Given the description of an element on the screen output the (x, y) to click on. 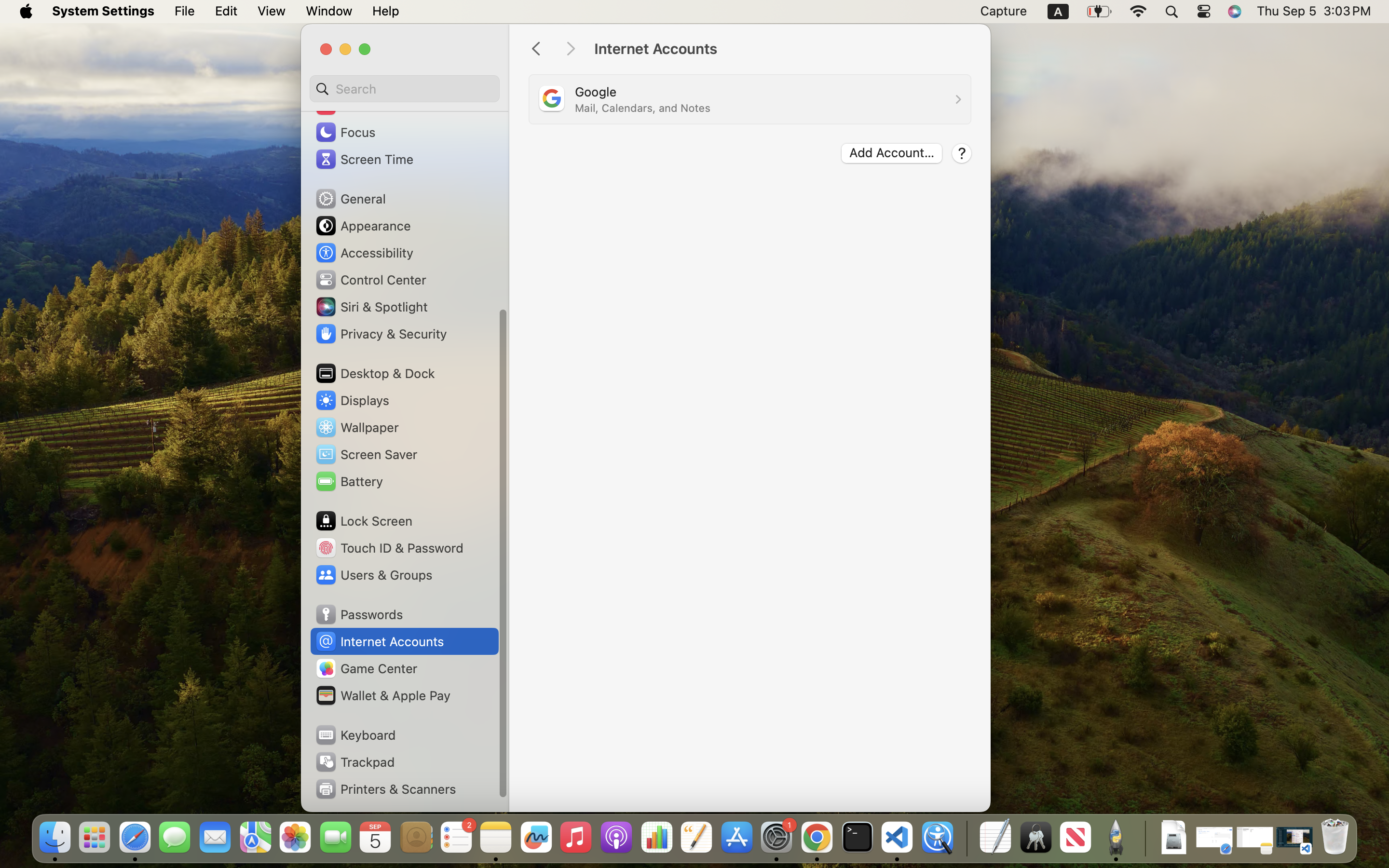
Lock Screen Element type: AXStaticText (363, 520)
Accessibility Element type: AXStaticText (363, 252)
Focus Element type: AXStaticText (344, 131)
Screen Saver Element type: AXStaticText (365, 453)
